Given the description of an element on the screen output the (x, y) to click on. 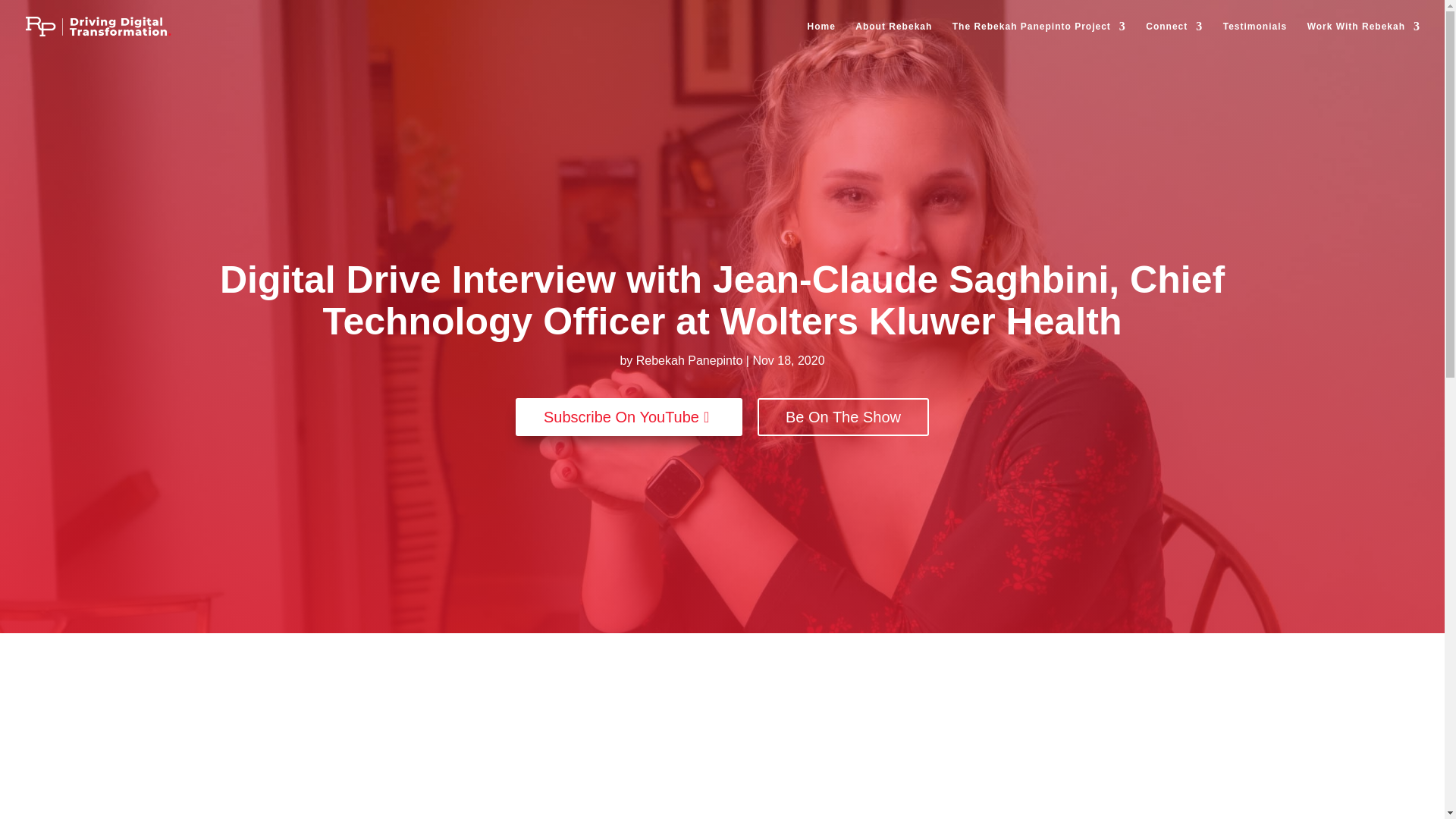
Work With Rebekah (1364, 37)
Testimonials (1255, 37)
About Rebekah (893, 37)
The Rebekah Panepinto Project (1038, 37)
Subscribe On YouTube (628, 416)
Posts by Rebekah Panepinto (689, 359)
Rebekah Panepinto (689, 359)
Connect (1173, 37)
Be On The Show (842, 416)
